Given the description of an element on the screen output the (x, y) to click on. 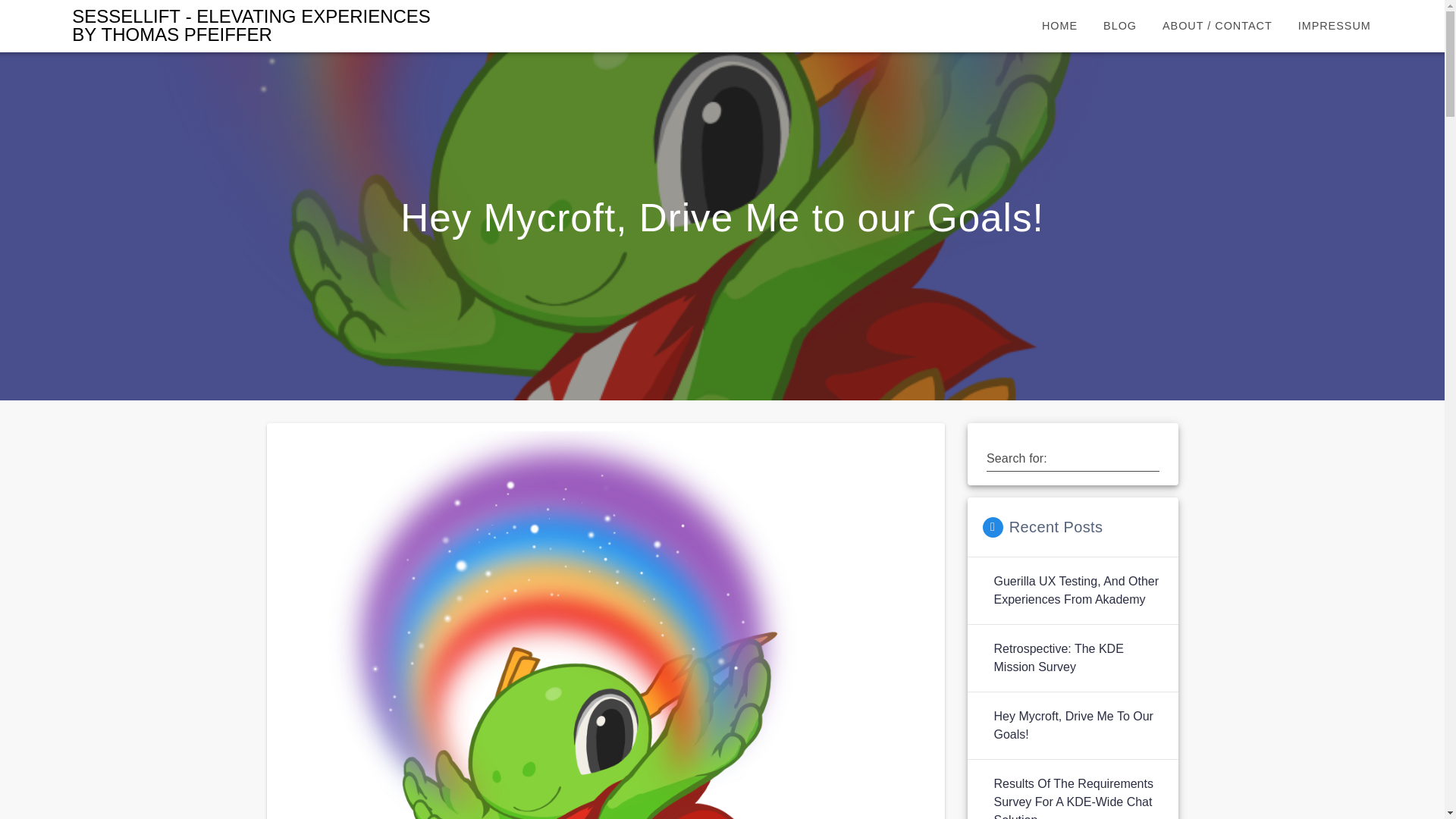
HOME (1059, 26)
BLOG (1120, 26)
IMPRESSUM (1334, 26)
SESSELLIFT - ELEVATING EXPERIENCES BY THOMAS PFEIFFER (258, 25)
